Given the description of an element on the screen output the (x, y) to click on. 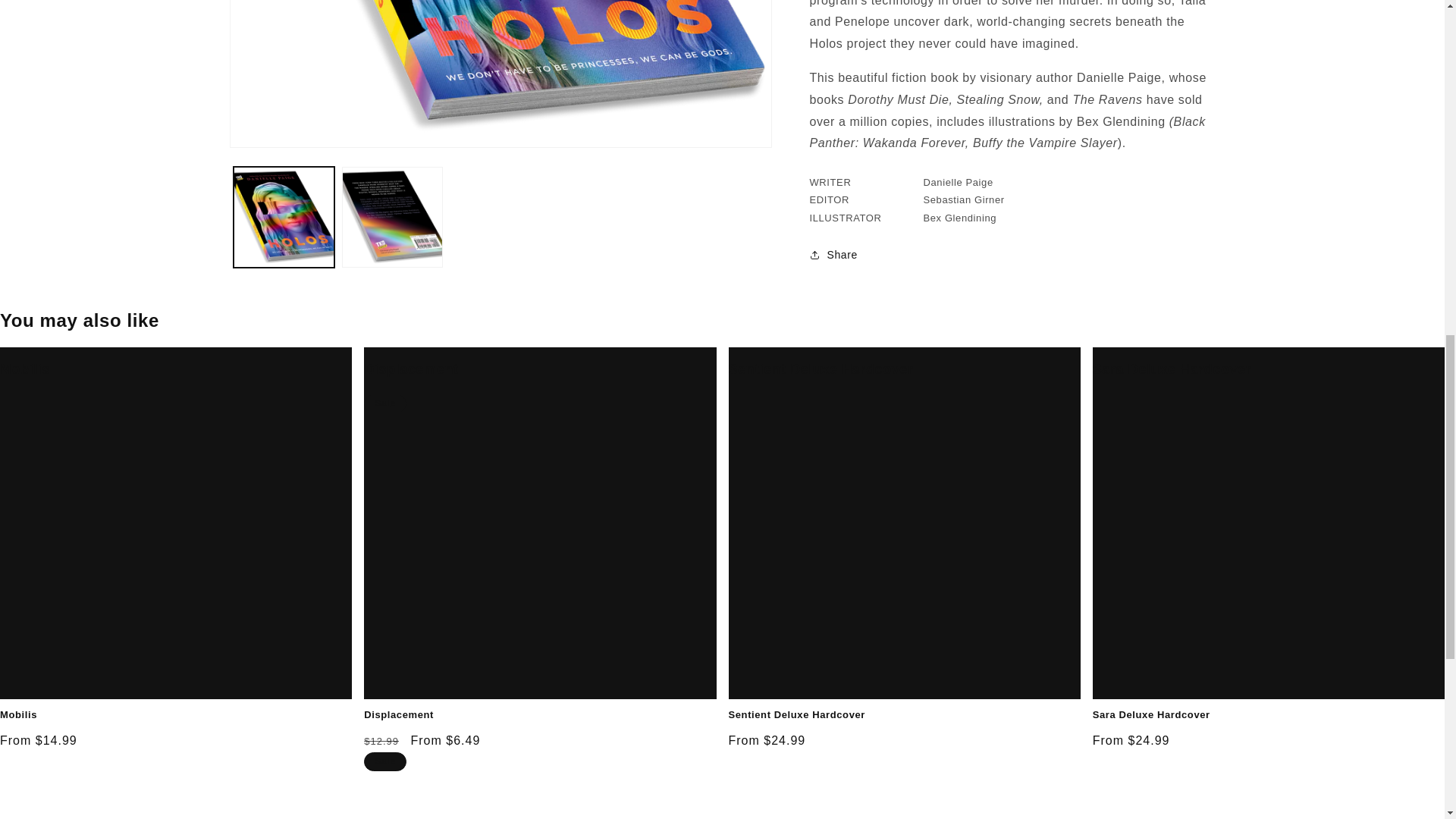
Displacement (411, 369)
Sentient Deluxe Hardcover (904, 715)
Sara Deluxe Hardcover (1172, 369)
Sentient Deluxe Hardcover (820, 369)
Mobilis (176, 715)
Mobilis (24, 369)
Displacement (540, 715)
